Given the description of an element on the screen output the (x, y) to click on. 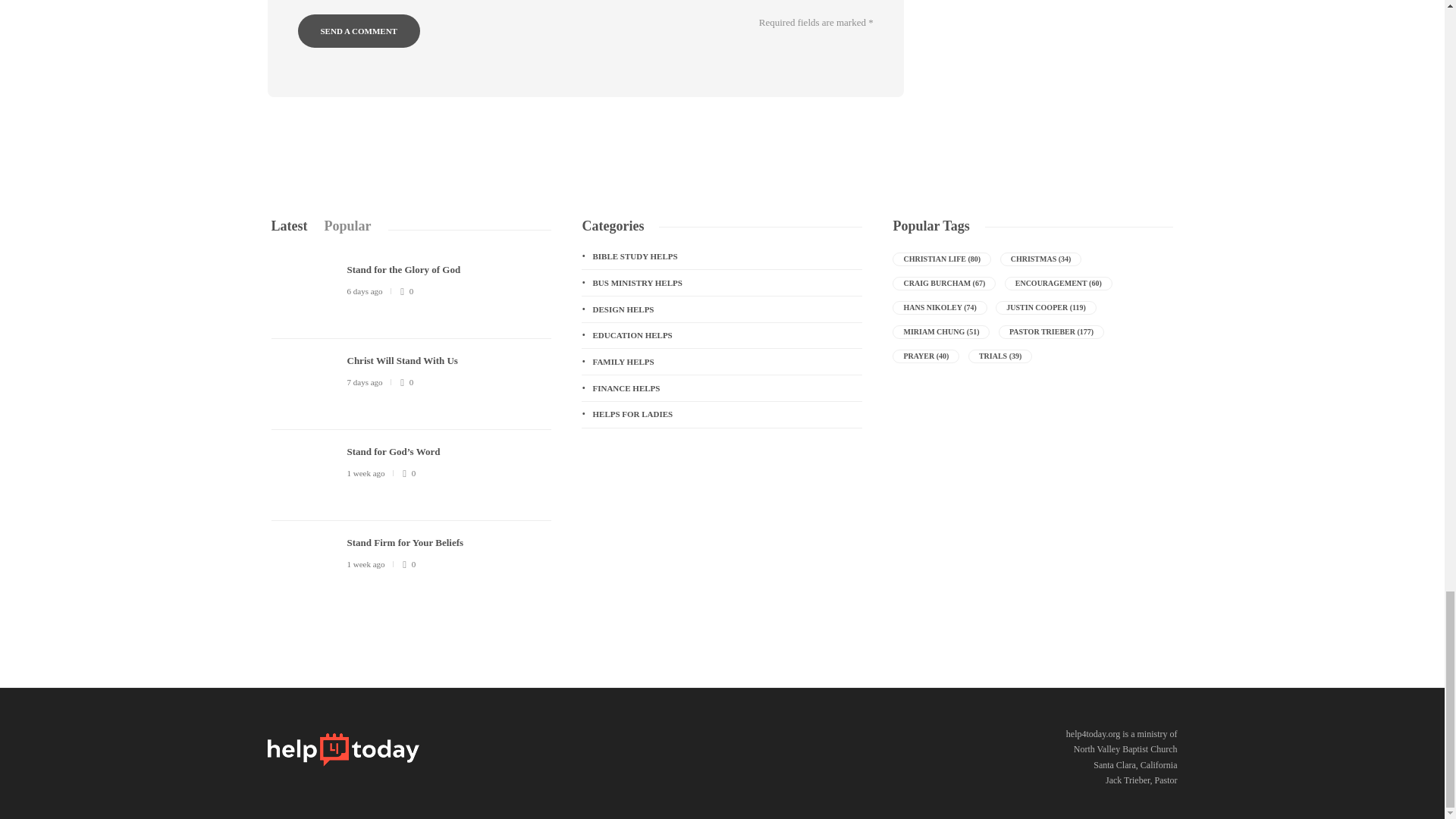
Send a comment (358, 30)
